Given the description of an element on the screen output the (x, y) to click on. 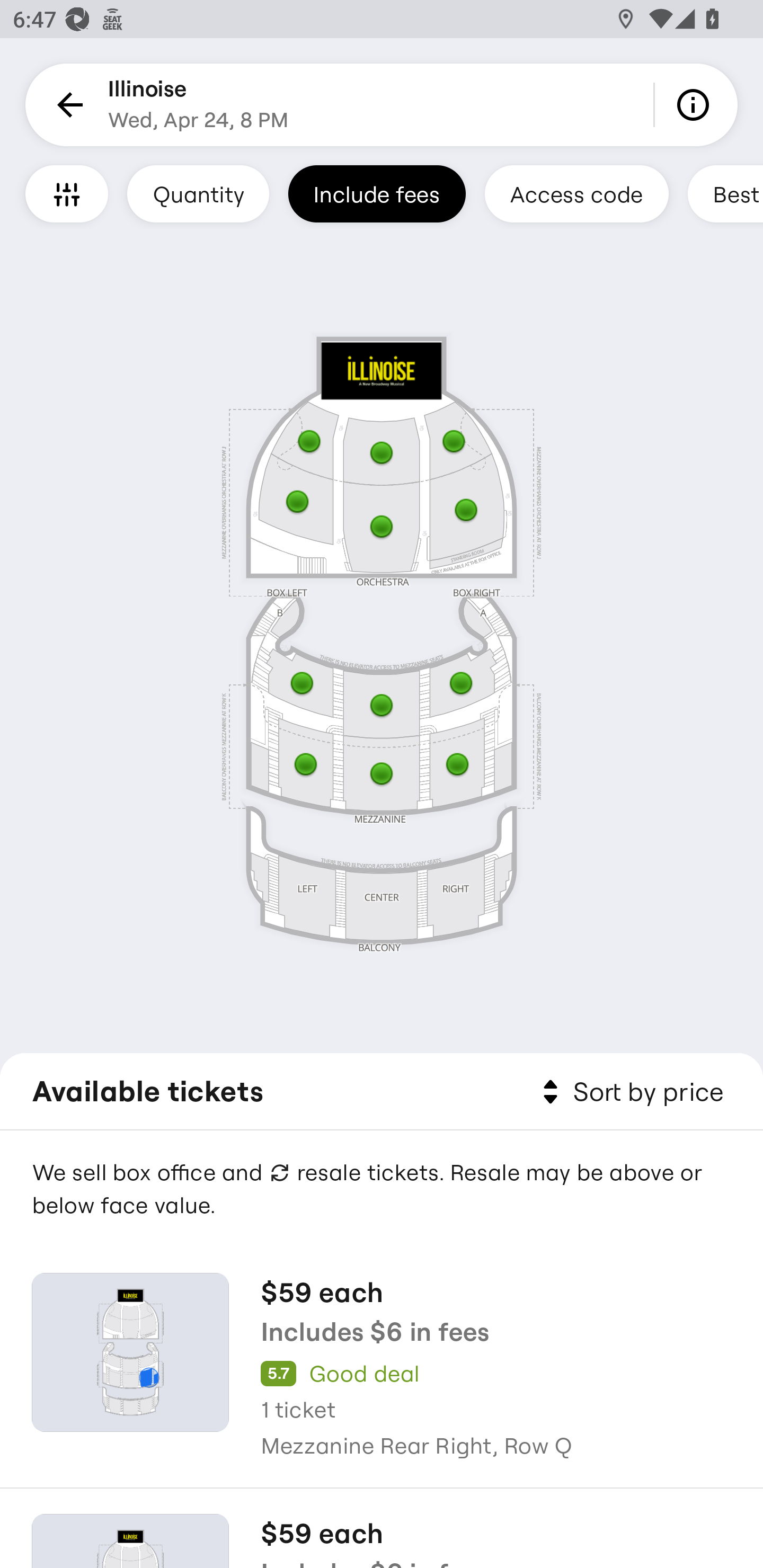
Back (66, 104)
Illinoise Wed, Apr 24, 8 PM (198, 104)
Info (695, 104)
Filters and Accessible Seating (66, 193)
Quantity (198, 193)
Include fees (376, 193)
Access code (576, 193)
Best seats (725, 193)
Sort by price (629, 1091)
